Given the description of an element on the screen output the (x, y) to click on. 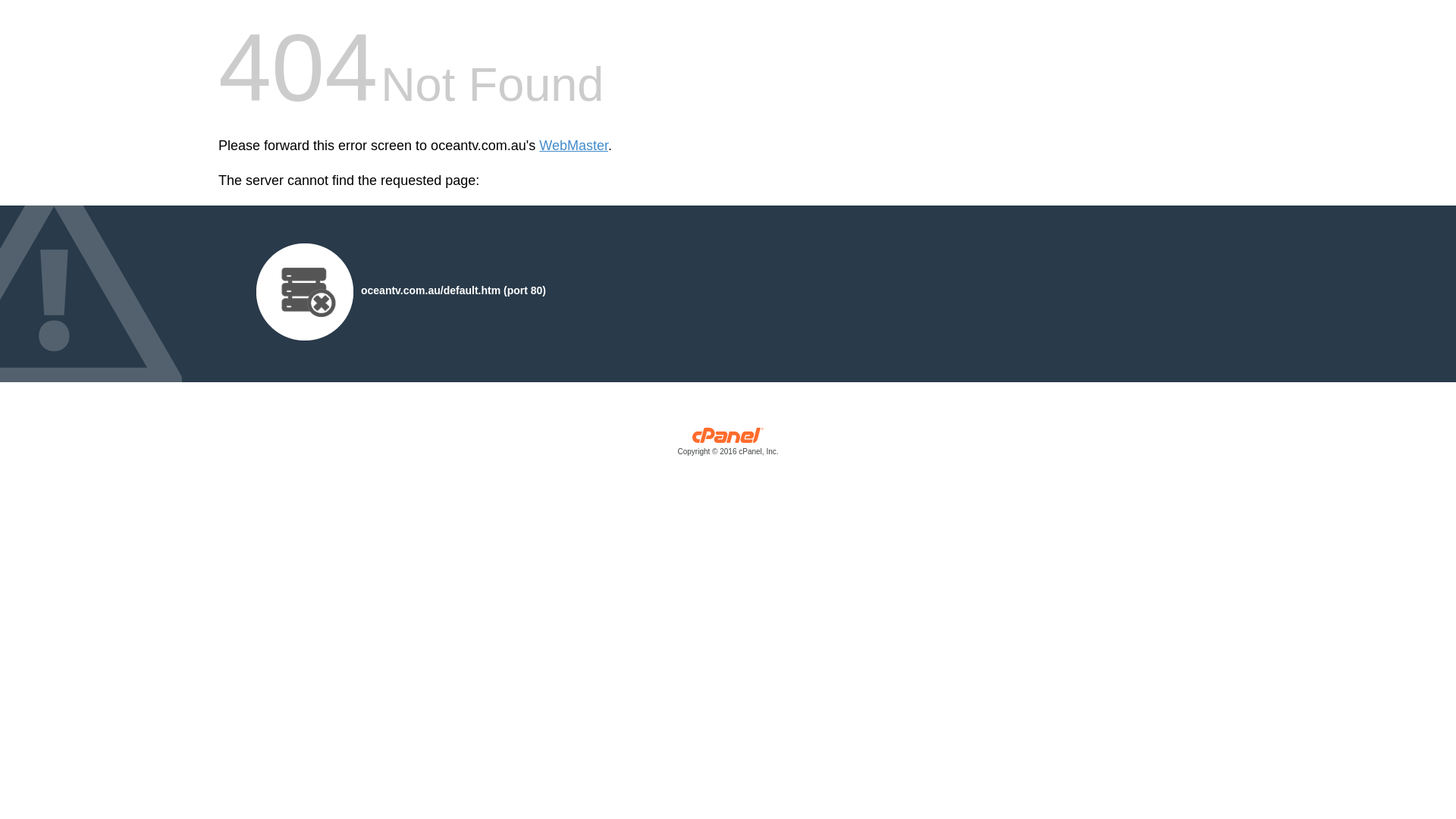
WebMaster Element type: text (573, 145)
